Given the description of an element on the screen output the (x, y) to click on. 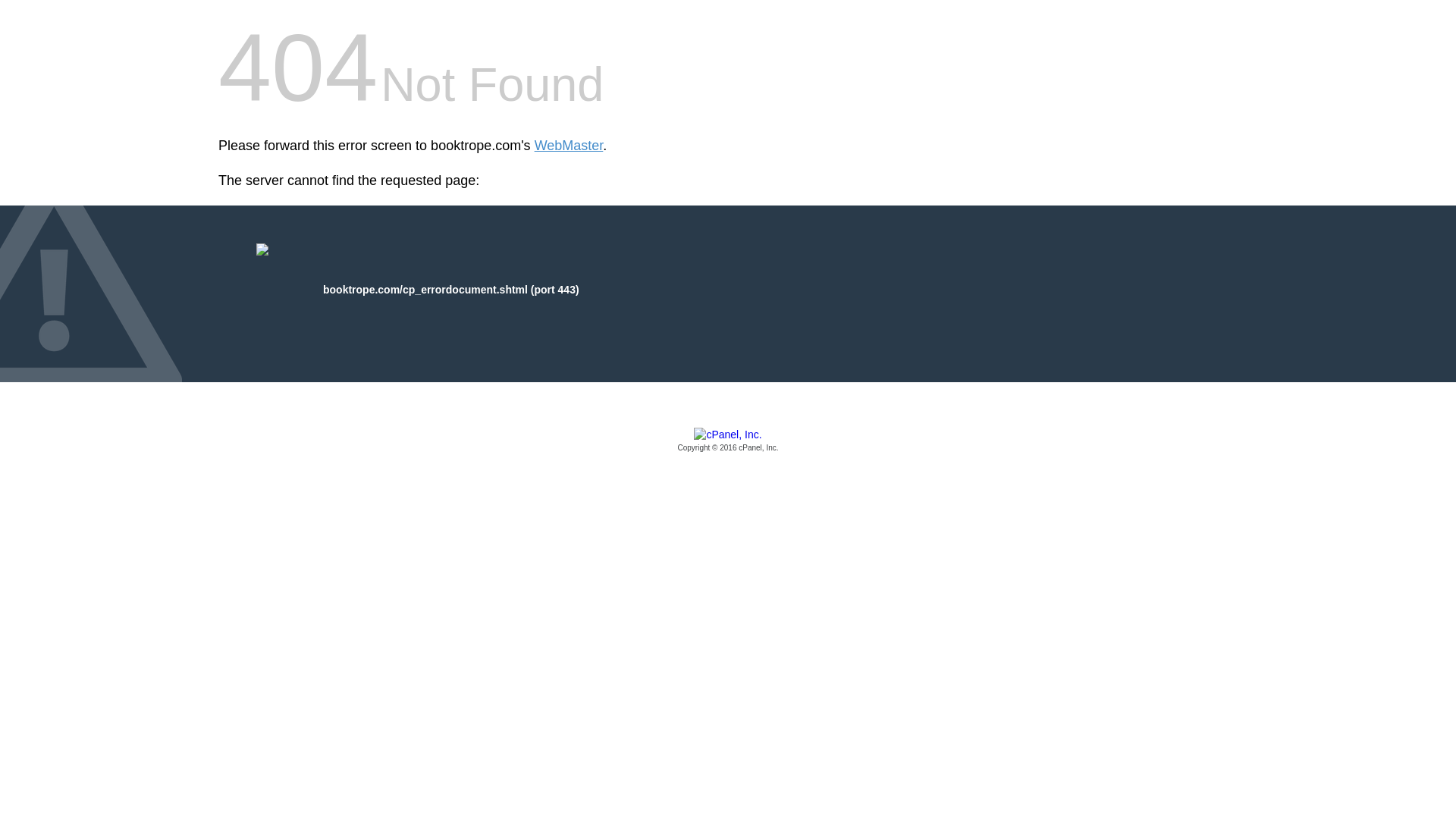
cPanel, Inc. (727, 440)
WebMaster (569, 145)
